Given the description of an element on the screen output the (x, y) to click on. 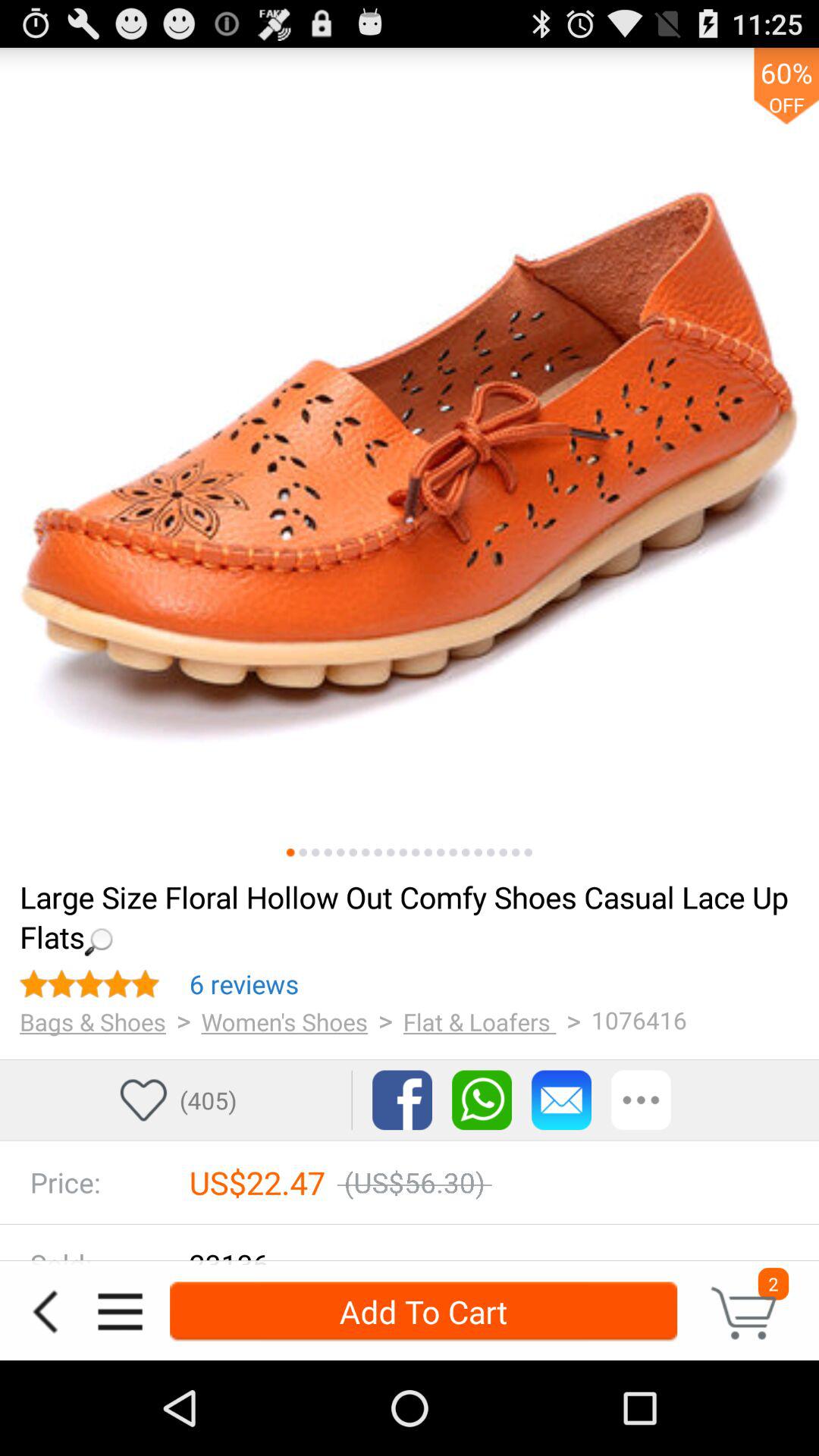
go to the eighth image (378, 852)
